Given the description of an element on the screen output the (x, y) to click on. 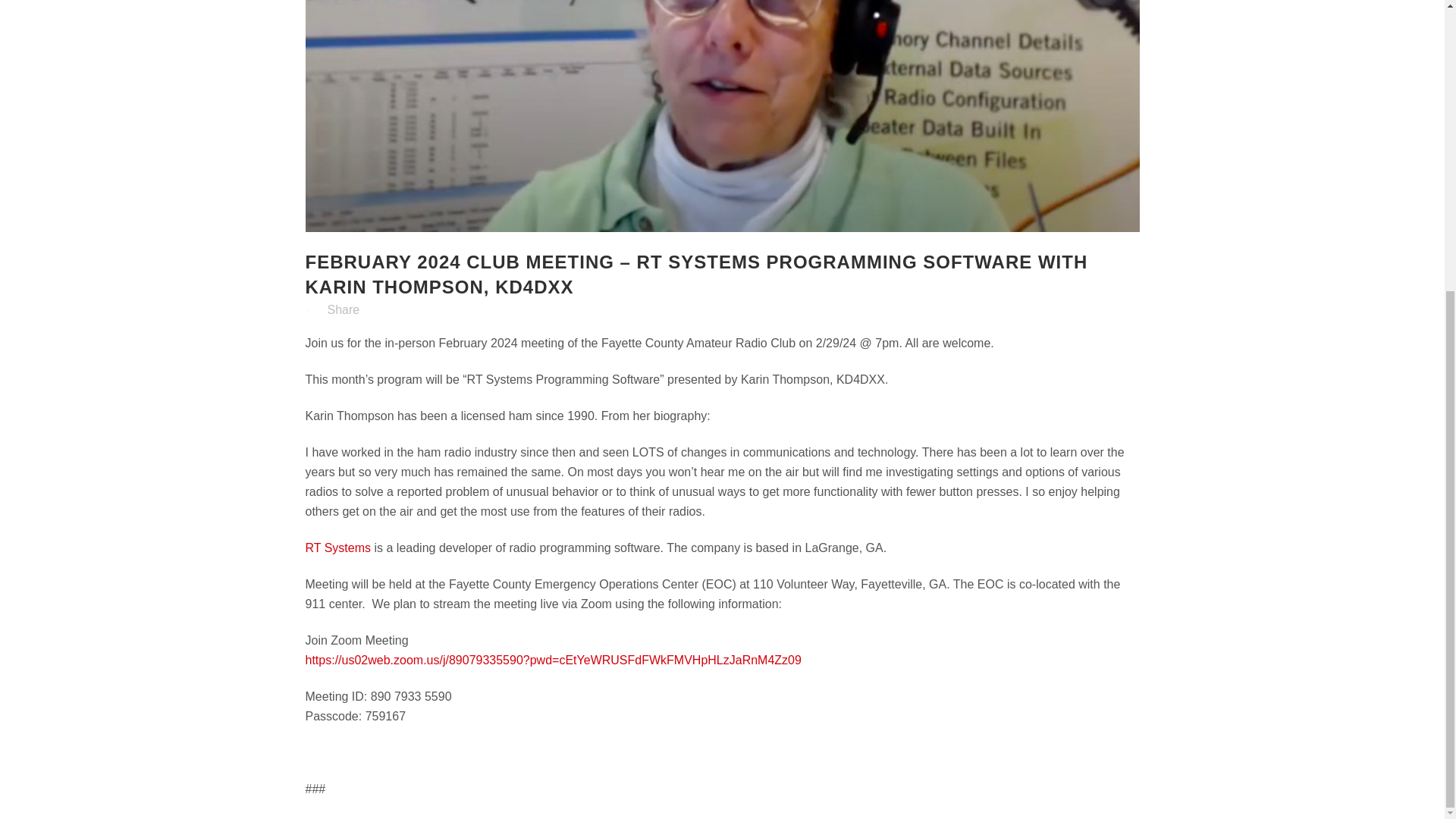
RT Systems (337, 547)
Share (343, 309)
